Given the description of an element on the screen output the (x, y) to click on. 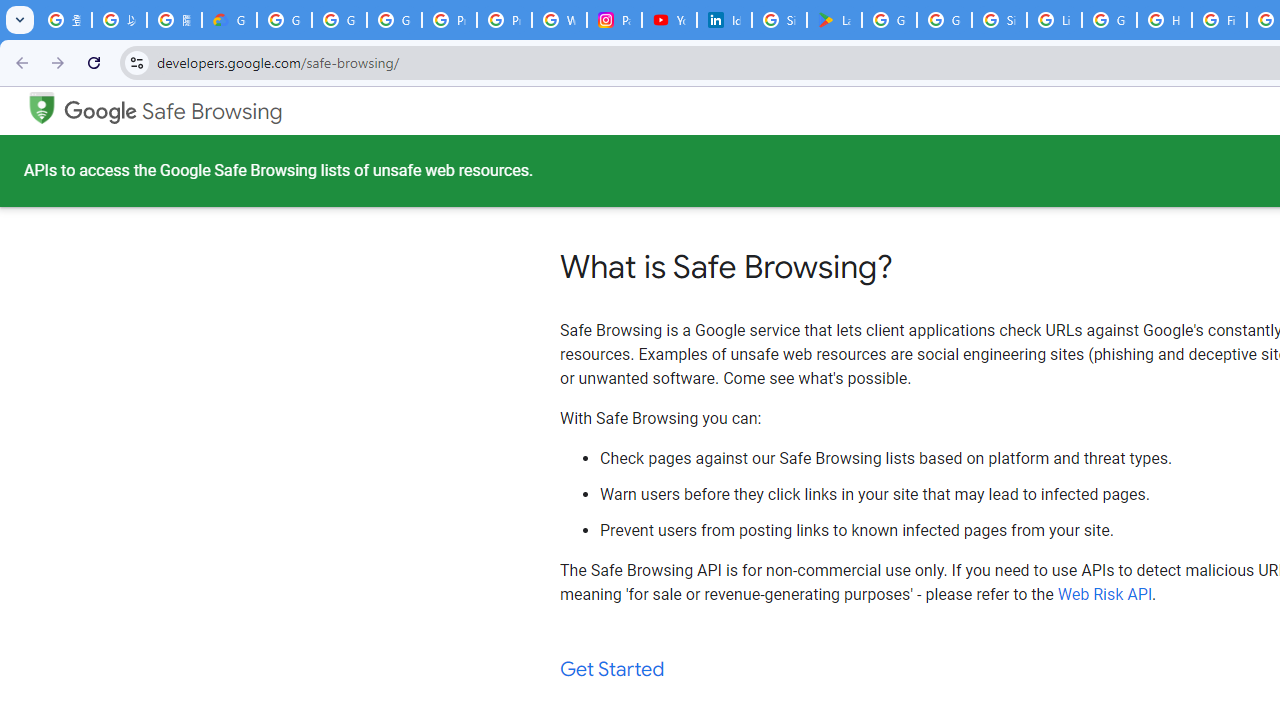
Privacy Help Center - Policies Help (504, 20)
Sign in - Google Accounts (779, 20)
YouTube Culture & Trends - On The Rise: Handcam Videos (669, 20)
